Given the description of an element on the screen output the (x, y) to click on. 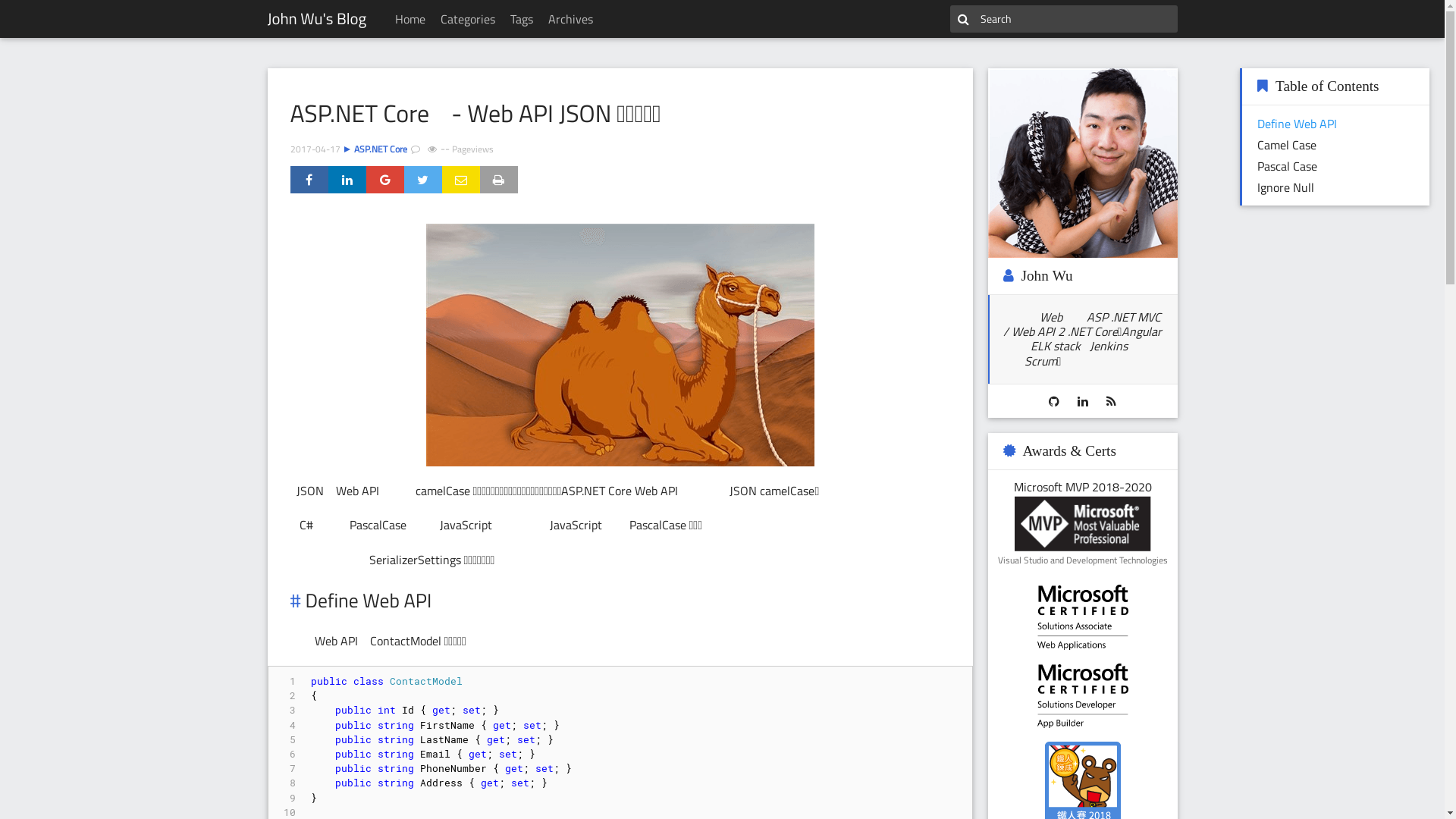
MCSA: Web Applications - Certified 2016 Element type: hover (1082, 616)
ASP.NET Core Element type: text (379, 148)
Microsoft MVP 2018-2020 Element type: hover (1082, 523)
Home Element type: text (410, 18)
MCSD: App Builder - Certified 2016 Element type: hover (1082, 695)
Ignore Null Element type: text (1285, 186)
Categories Element type: text (467, 18)
Tags Element type: text (521, 18)
Camel Case Element type: text (1286, 144)
Archives Element type: text (570, 18)
John Wu's Blog Element type: text (316, 18)
Share Element type: hover (384, 179)
Share Element type: hover (346, 179)
Define Web API Element type: text (1297, 123)
Mail Element type: hover (460, 179)
Print Element type: hover (498, 179)
Share Element type: hover (422, 179)
Pascal Case Element type: text (1287, 165)
Share Element type: hover (308, 179)
